Given the description of an element on the screen output the (x, y) to click on. 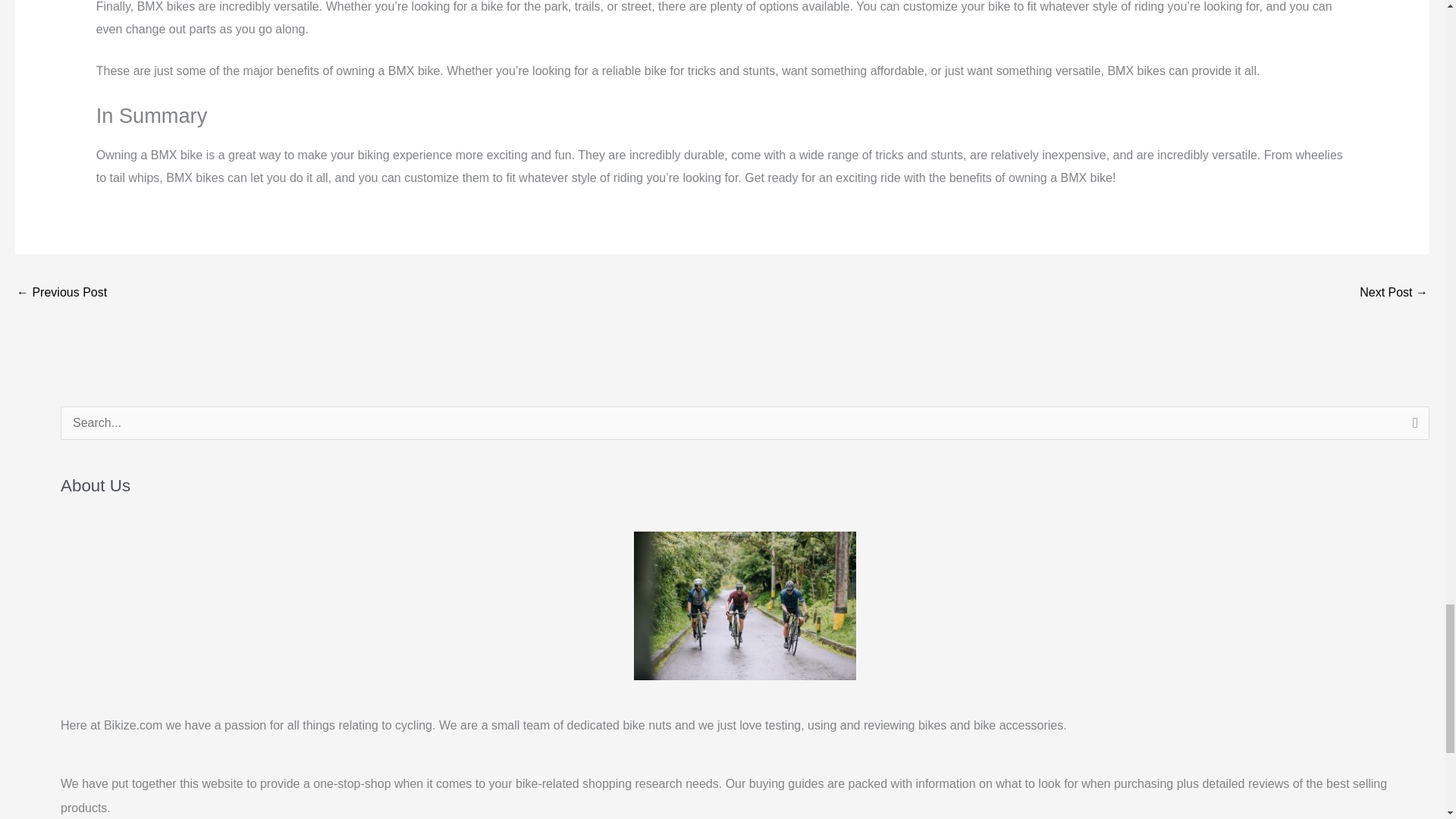
Search (1411, 427)
The Ultimate Guide to Long Riding with a BMX Bike (1393, 293)
Search (1411, 427)
Search (1411, 427)
